Given the description of an element on the screen output the (x, y) to click on. 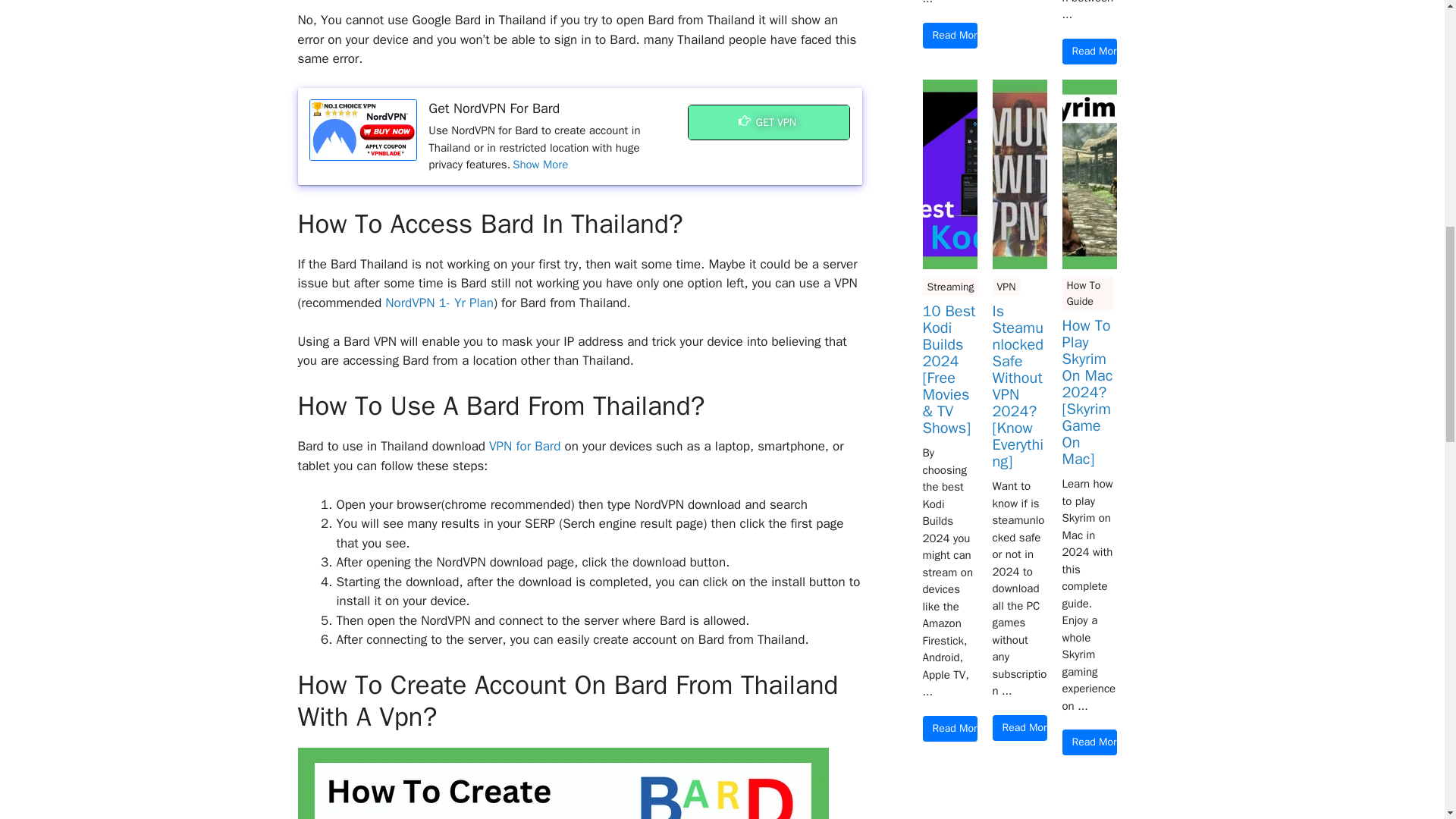
Get VPN (768, 122)
Get NordVPN For Bard (362, 129)
